Given the description of an element on the screen output the (x, y) to click on. 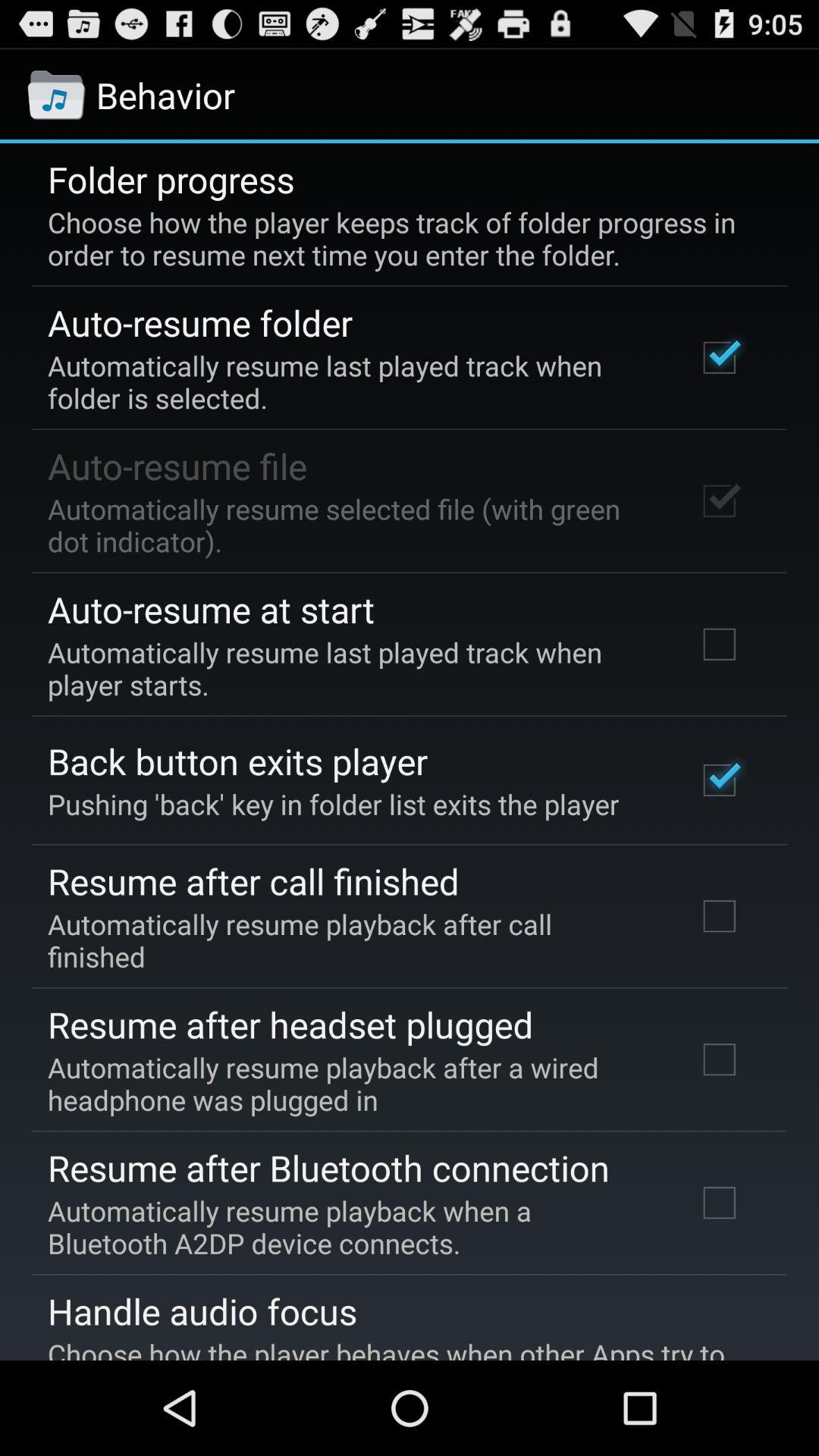
turn on the app above the choose how the icon (202, 1311)
